Given the description of an element on the screen output the (x, y) to click on. 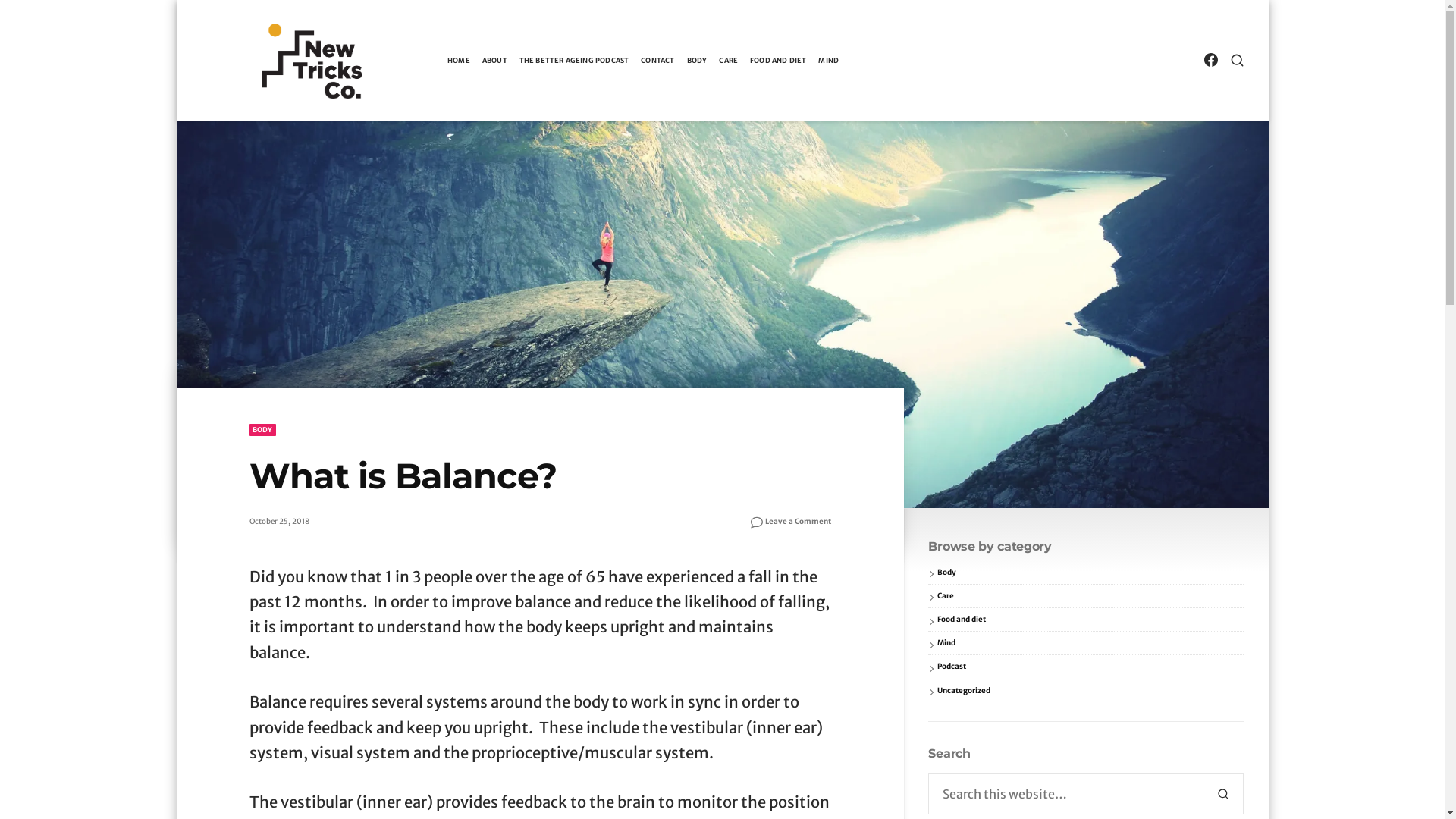
SEARCH Element type: text (1237, 60)
Uncategorized Element type: text (963, 690)
Facebook Element type: text (1210, 59)
Care Element type: text (945, 595)
THE BETTER AGEING PODCAST Element type: text (574, 59)
Food and diet Element type: text (961, 619)
CONTACT Element type: text (657, 59)
Leave a Comment
on What is Balance? Element type: text (798, 521)
Search for: Element type: hover (1065, 793)
MIND Element type: text (828, 59)
BODY Element type: text (697, 59)
SEARCH Element type: text (1223, 793)
BODY Element type: text (261, 429)
CARE Element type: text (727, 59)
ABOUT Element type: text (494, 59)
Body Element type: text (946, 572)
HOME Element type: text (458, 59)
Podcast Element type: text (951, 666)
NEW TRICKS CO. Element type: text (259, 117)
Mind Element type: text (946, 642)
FOOD AND DIET Element type: text (777, 59)
